Given the description of an element on the screen output the (x, y) to click on. 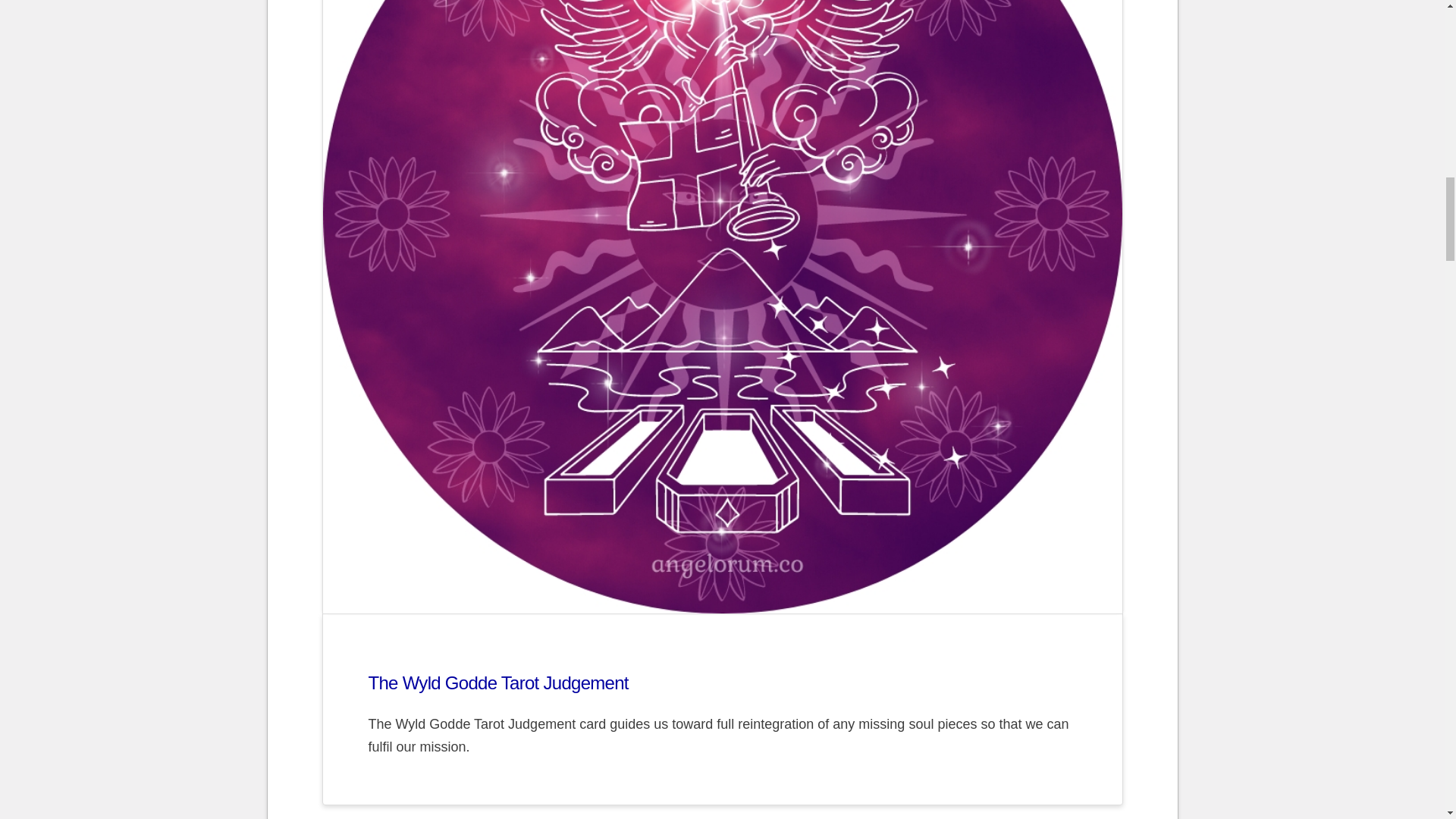
Permalink to: "The Wyld Godde Tarot Judgement" (498, 682)
